Given the description of an element on the screen output the (x, y) to click on. 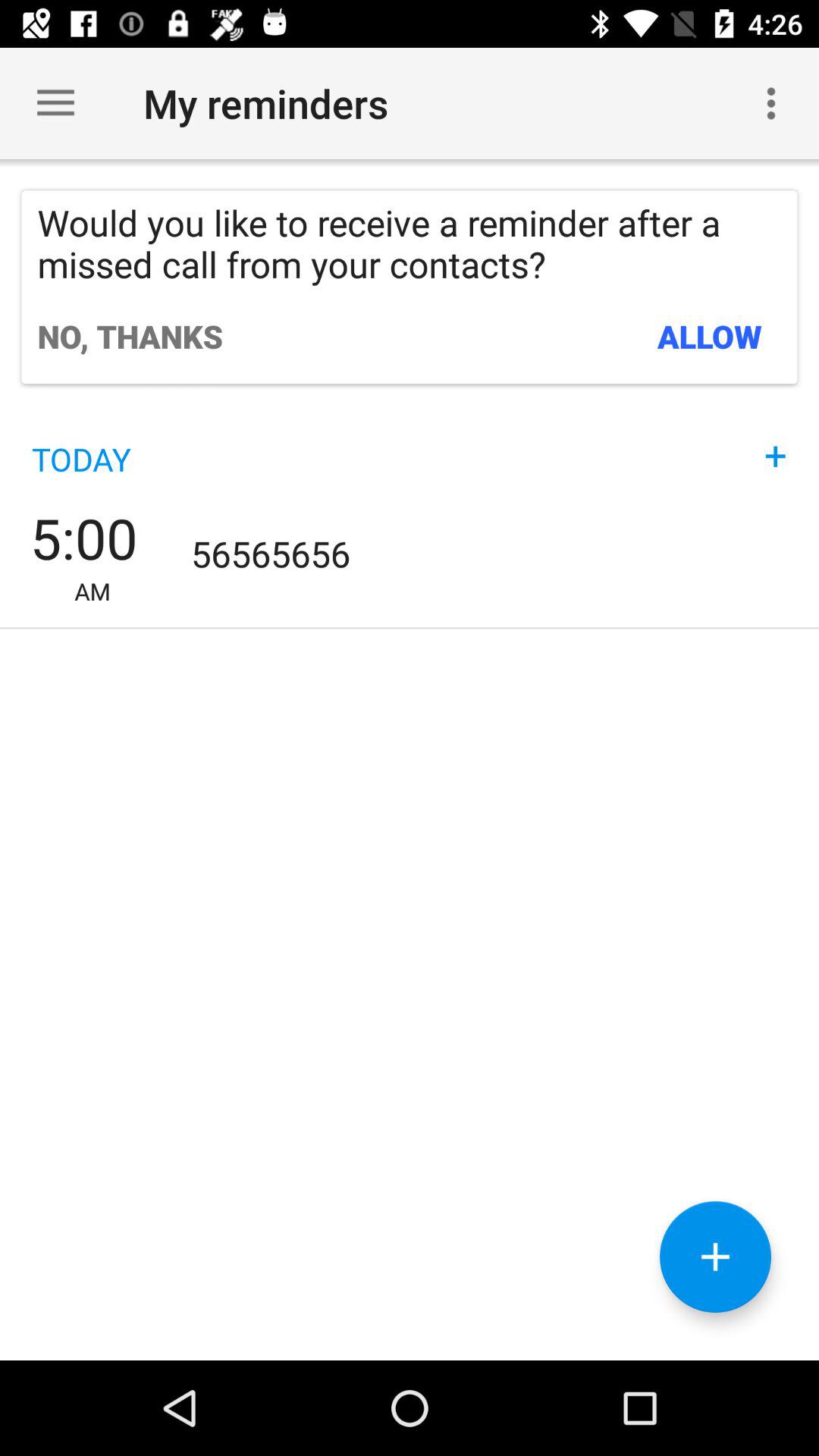
go to add (715, 1256)
